Given the description of an element on the screen output the (x, y) to click on. 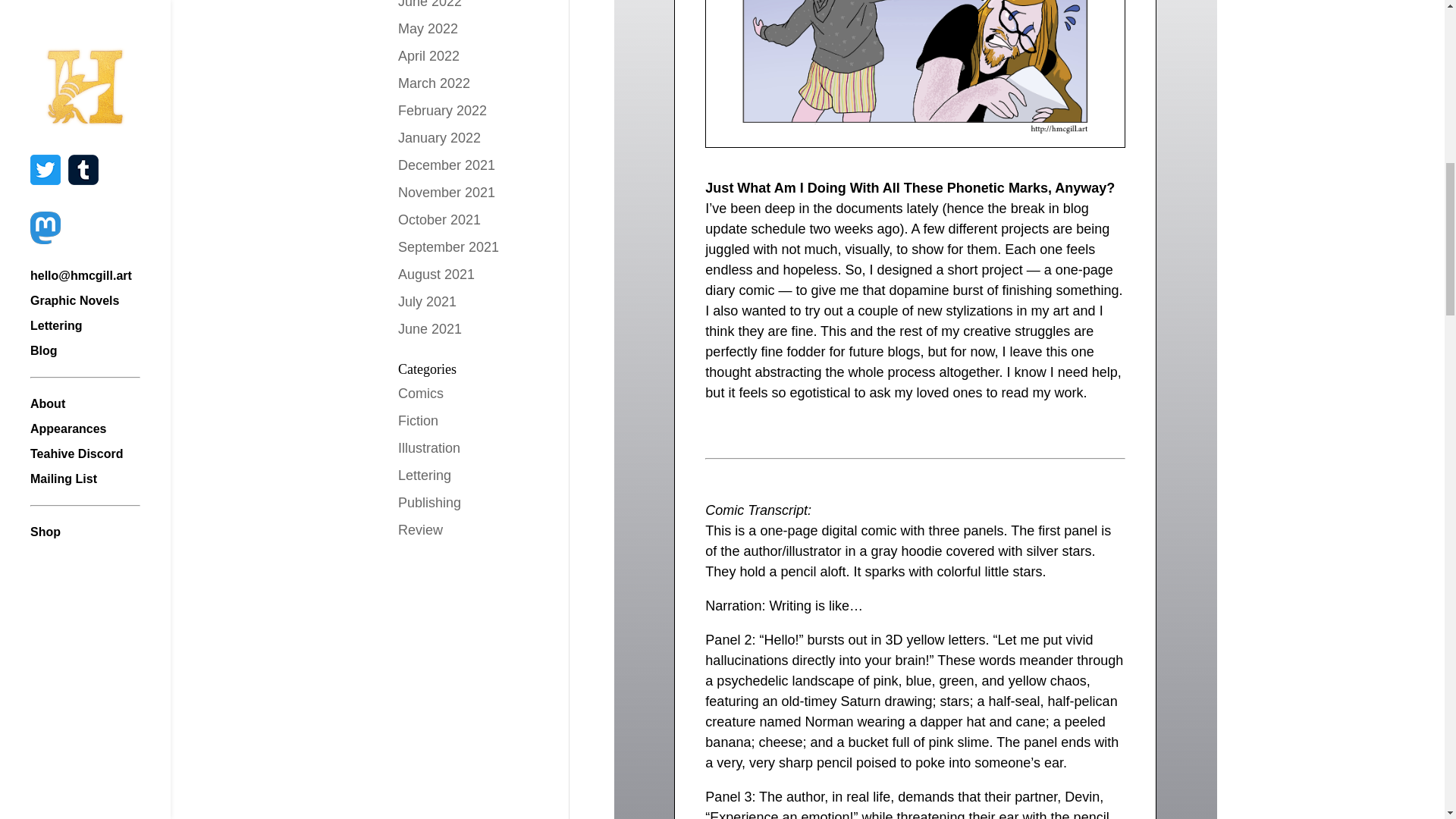
Writingislike-comic (915, 74)
